Given the description of an element on the screen output the (x, y) to click on. 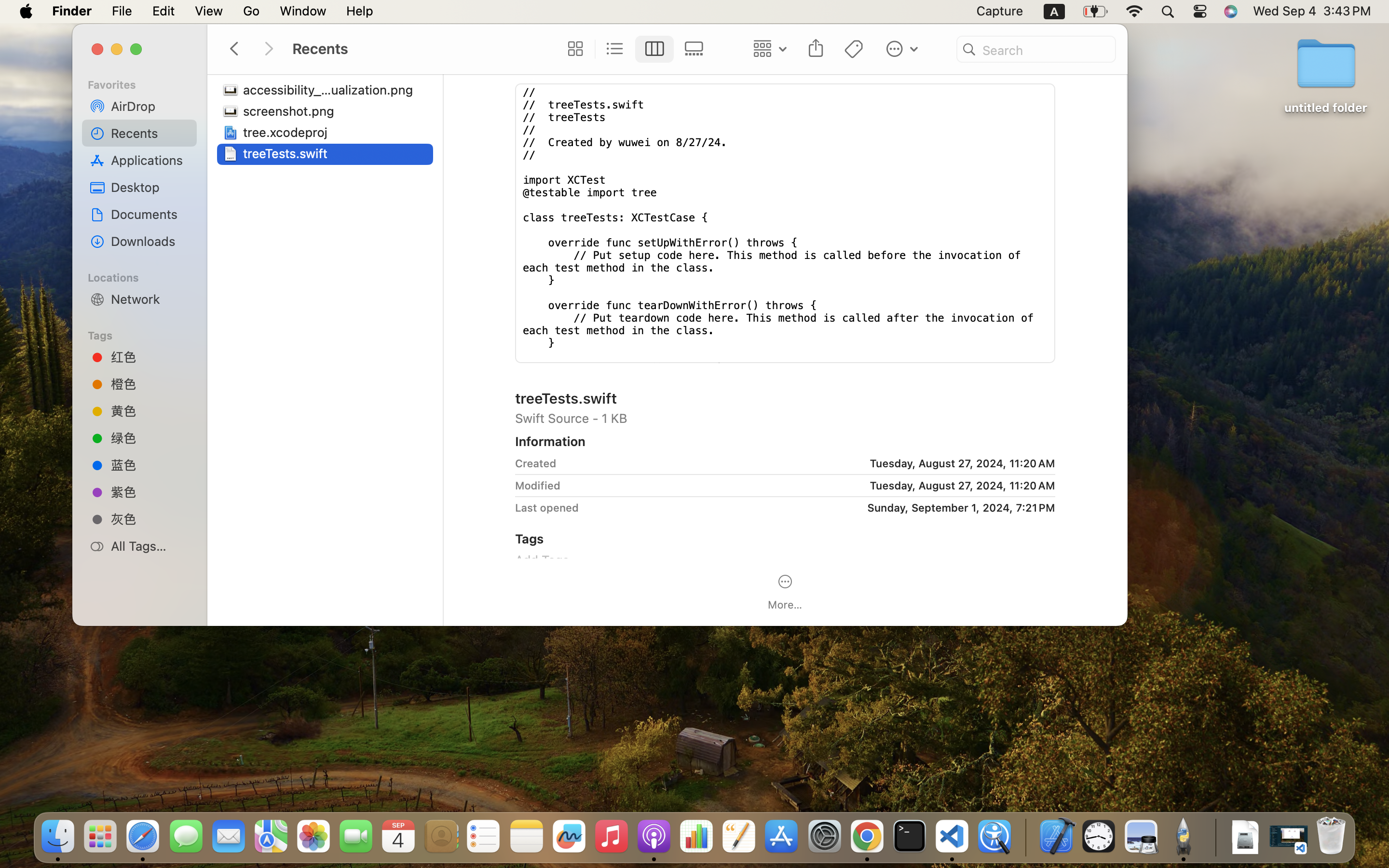
黄色 Element type: AXStaticText (149, 410)
All Tags… Element type: AXStaticText (149, 545)
红色 Element type: AXStaticText (149, 356)
Created Element type: AXStaticText (535, 462)
tree.xcodeproj Element type: AXTextField (287, 131)
